Given the description of an element on the screen output the (x, y) to click on. 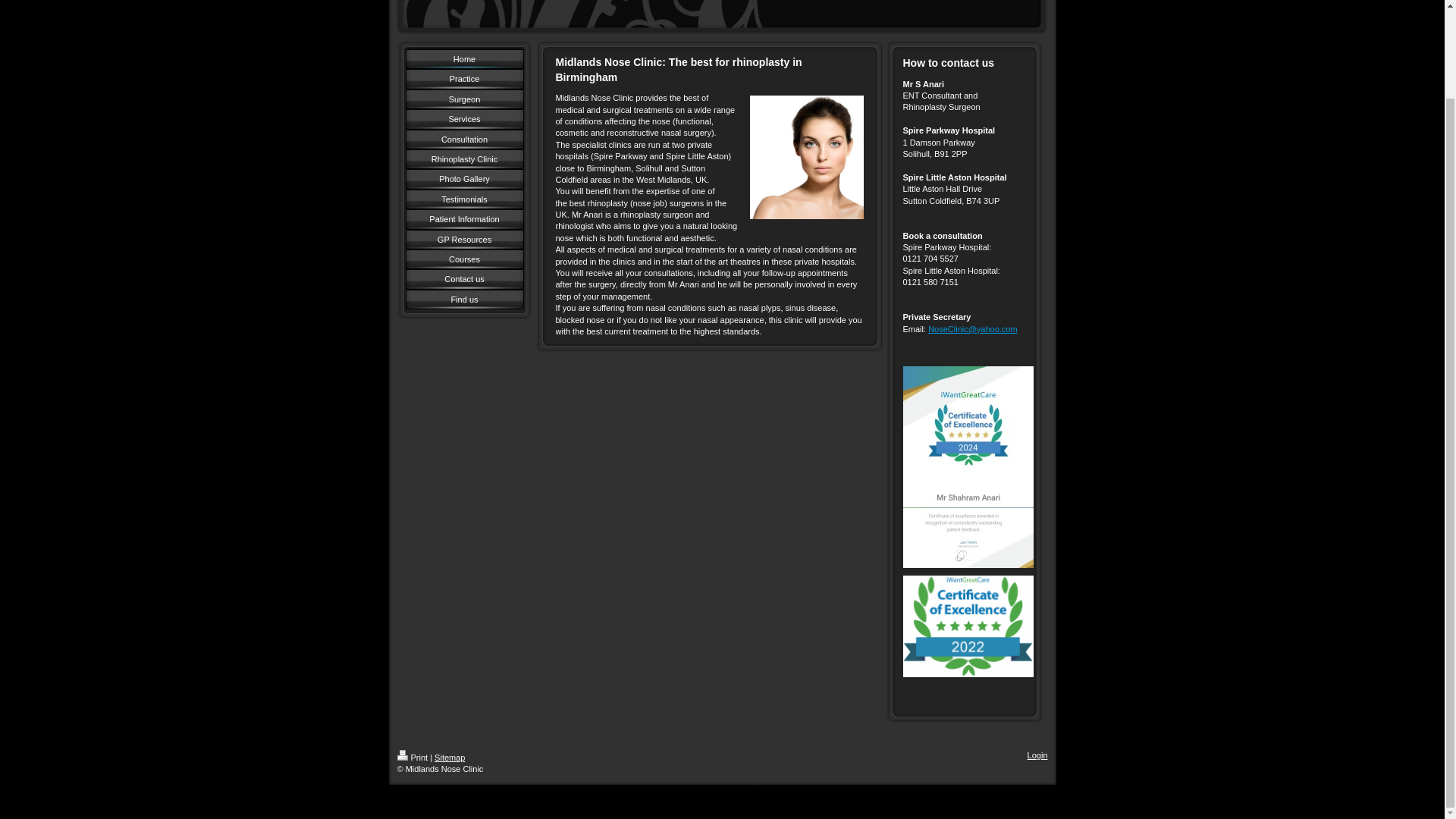
Photo Gallery (463, 178)
Patient Information (463, 219)
Login (1037, 755)
Sitemap (448, 757)
Rhinoplasty Clinic (463, 158)
GP Resources (463, 239)
Home (463, 58)
Testimonials (463, 199)
Surgeon (463, 98)
Courses (463, 259)
